Given the description of an element on the screen output the (x, y) to click on. 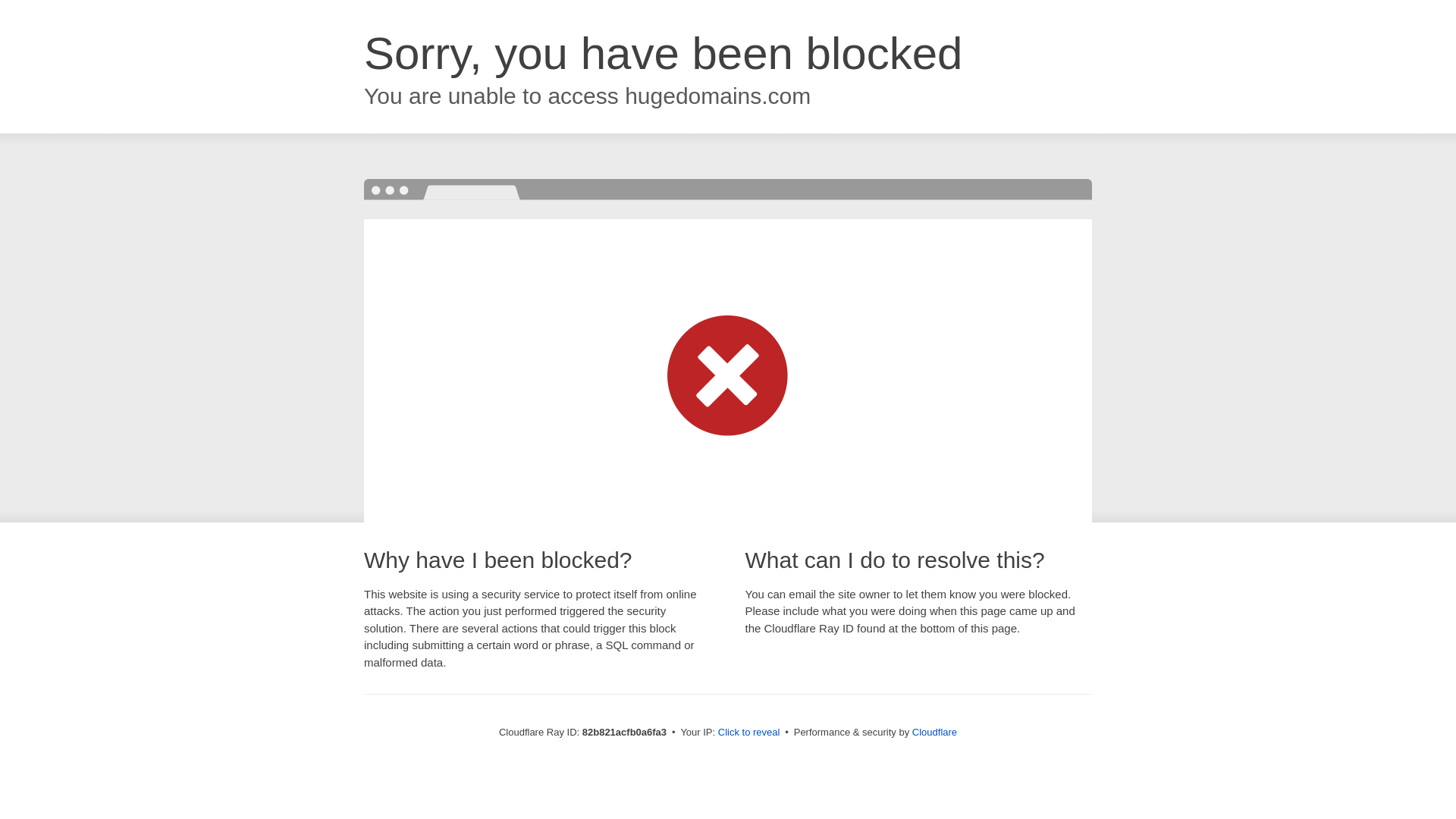
Cloudflare Element type: text (934, 731)
Click to reveal Element type: text (749, 732)
